Given the description of an element on the screen output the (x, y) to click on. 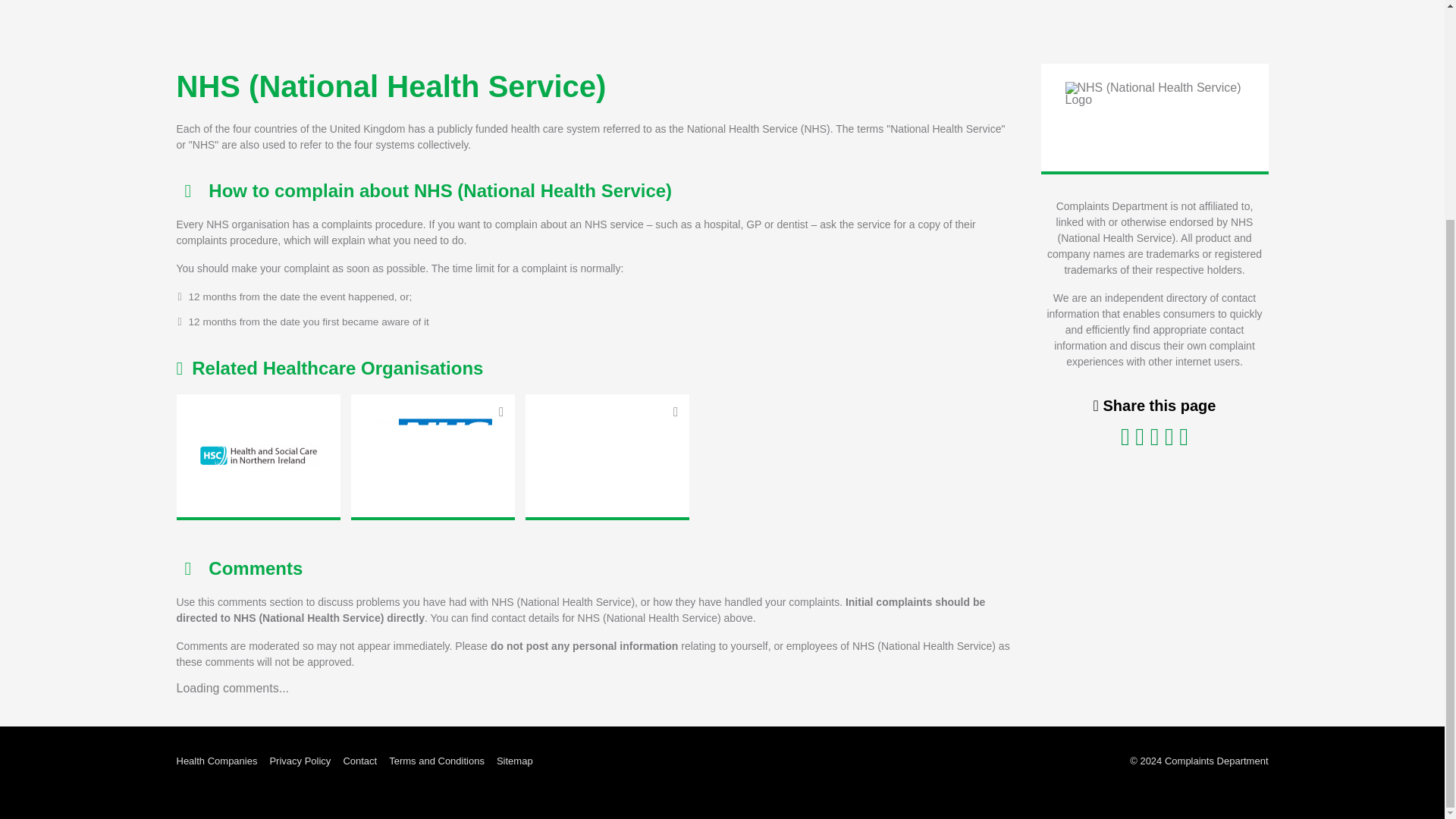
NHS England Complaints (432, 455)
Health Companies (216, 761)
Terms and Conditions (436, 761)
Sitemap (514, 761)
Privacy Policy (299, 761)
Contact (359, 761)
NHS Scotland Complaints (606, 455)
